Given the description of an element on the screen output the (x, y) to click on. 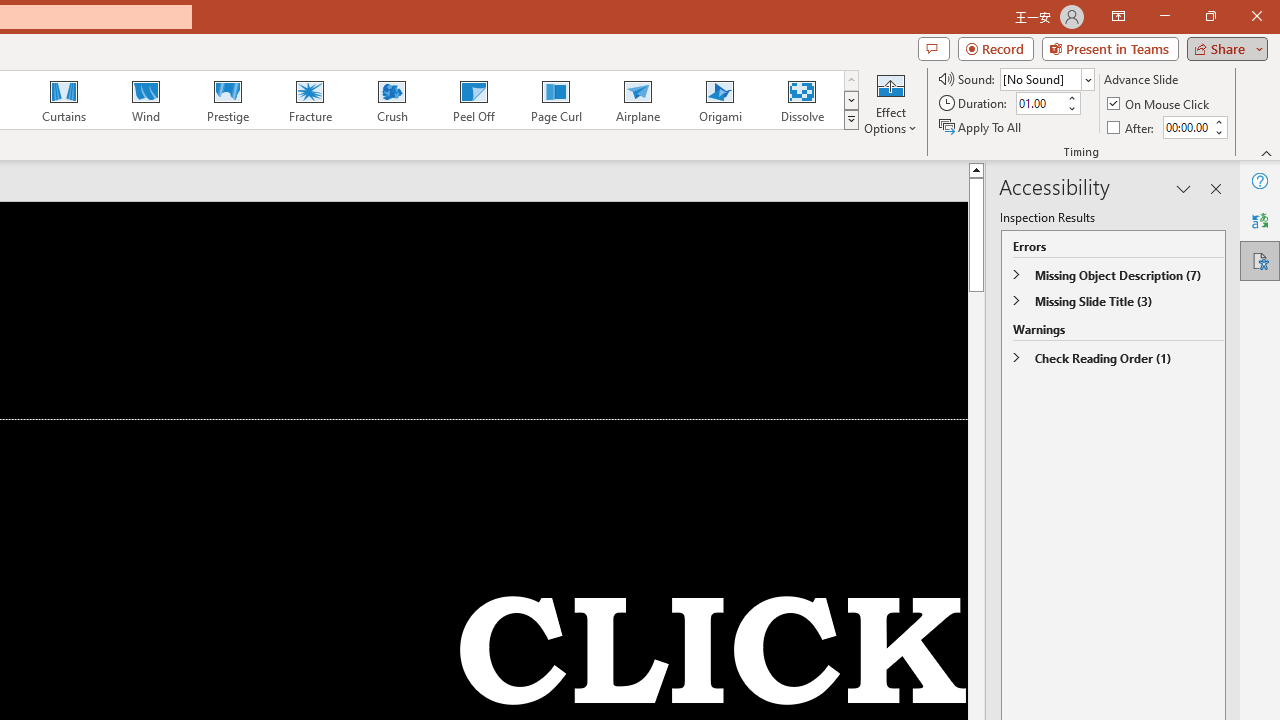
Duration (1039, 103)
On Mouse Click (1159, 103)
Prestige (227, 100)
